Given the description of an element on the screen output the (x, y) to click on. 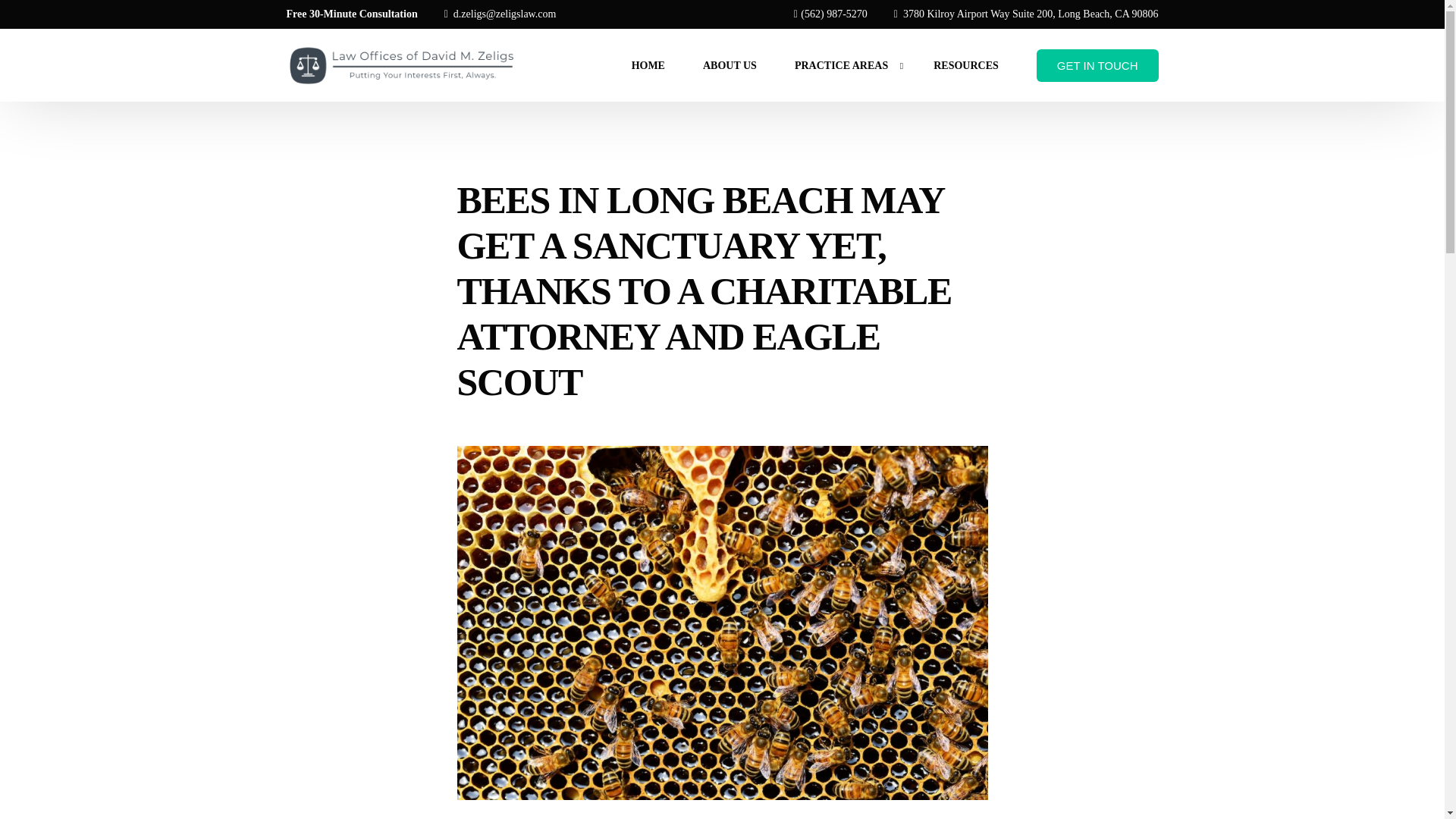
RESOURCES (965, 64)
GET IN TOUCH (1097, 65)
ABOUT US (730, 64)
HOME (648, 64)
PRACTICE AREAS (845, 64)
